Given the description of an element on the screen output the (x, y) to click on. 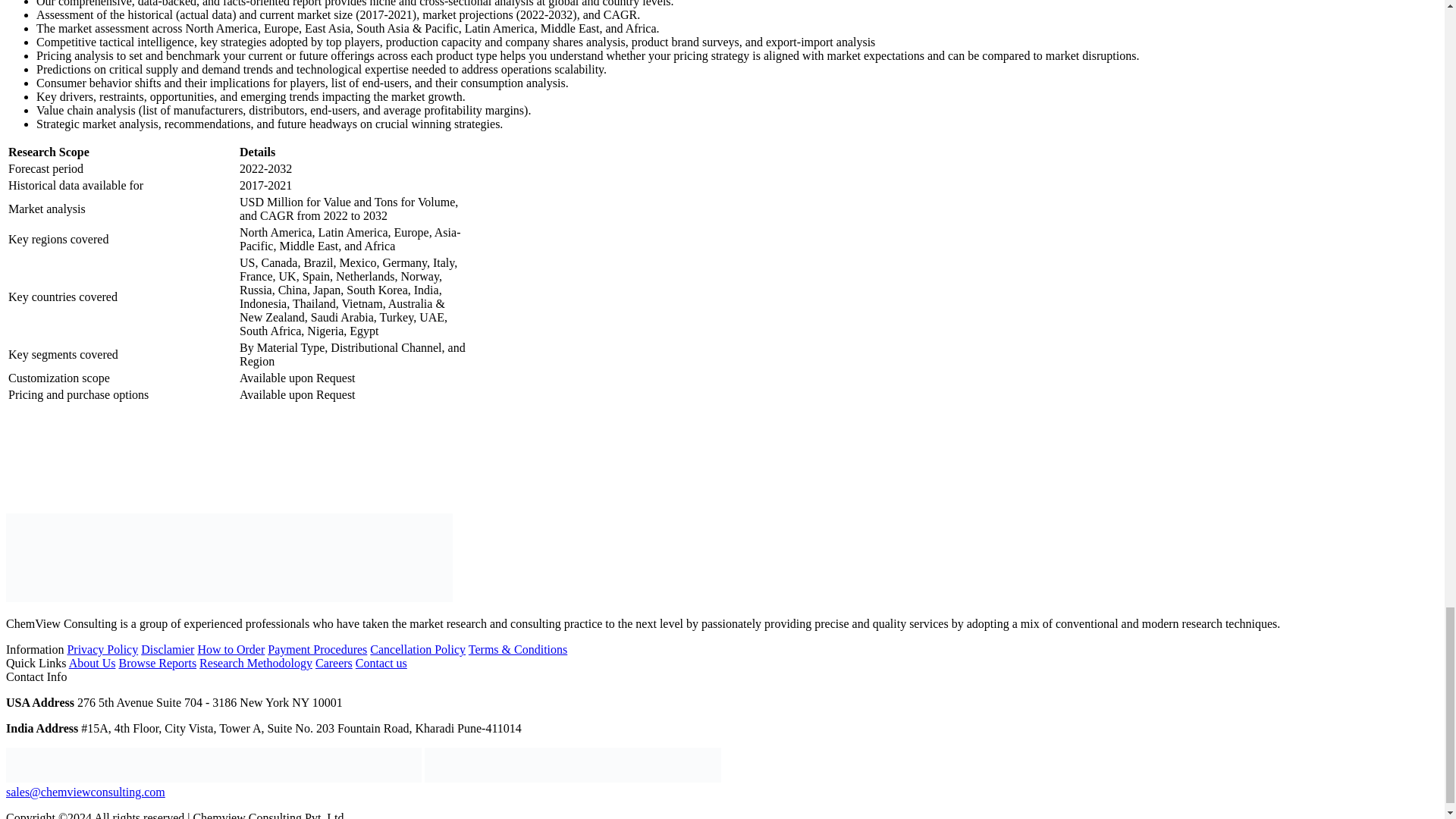
Research Methodology (256, 662)
Careers (333, 662)
Privacy Policy (102, 649)
Contact us (381, 662)
How to Order (230, 649)
Disclamier (167, 649)
Browse Reports (156, 662)
Cancellation Policy (417, 649)
About Us (92, 662)
Payment Procedures (316, 649)
